Given the description of an element on the screen output the (x, y) to click on. 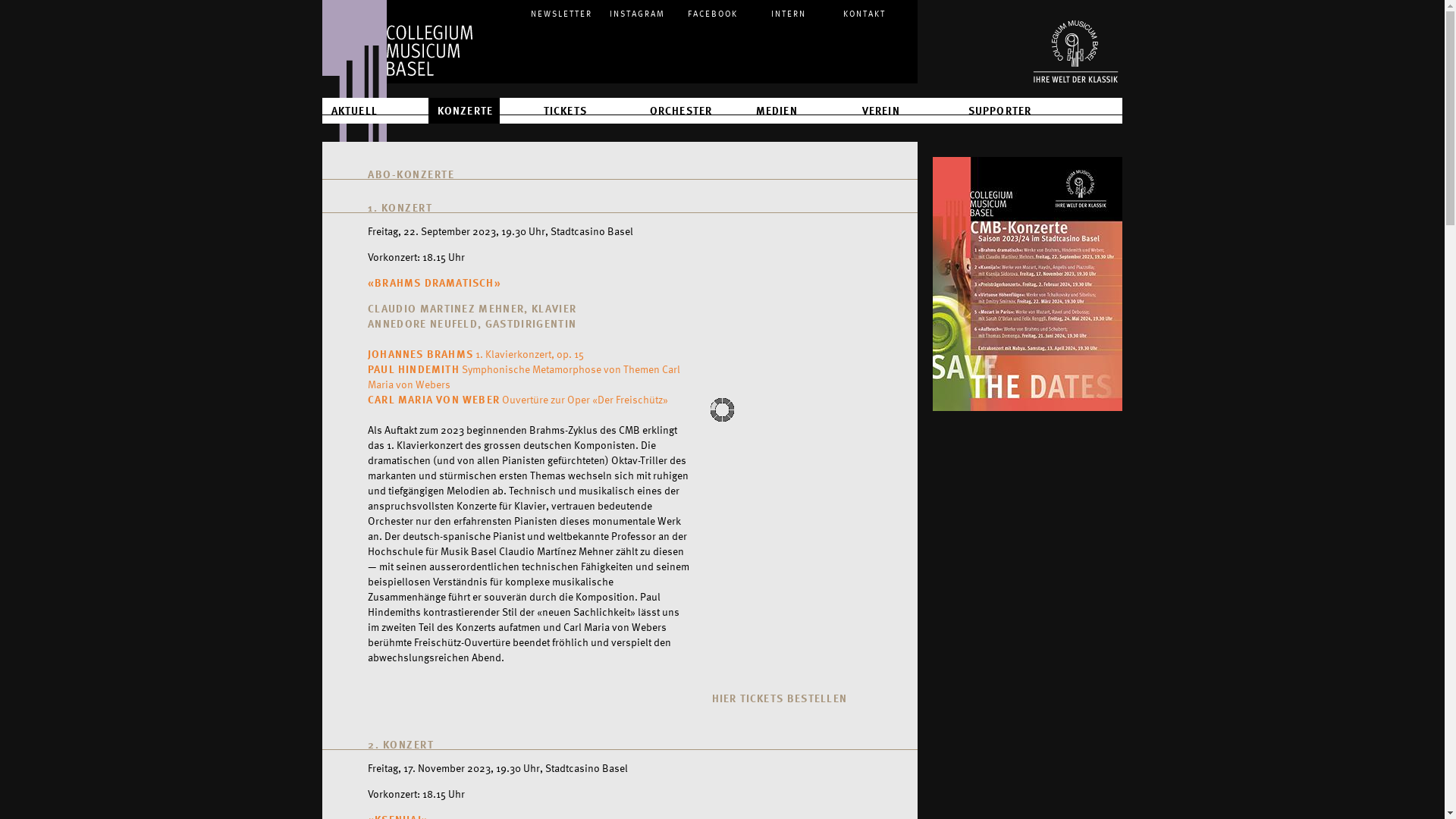
TICKETS Element type: text (563, 110)
MEDIEN Element type: text (775, 110)
INSTAGRAM Element type: text (636, 11)
NEWSLETTER Element type: text (561, 11)
KONZERTE Element type: text (463, 110)
FACEBOOK Element type: text (712, 11)
INTERN Element type: text (788, 11)
VEREIN Element type: text (879, 110)
KONTAKT Element type: text (864, 11)
AKTUELL Element type: text (353, 110)
ORCHESTER Element type: text (679, 110)
SUPPORTER Element type: text (998, 110)
HIER TICKETS BESTELLEN Element type: text (779, 698)
